Given the description of an element on the screen output the (x, y) to click on. 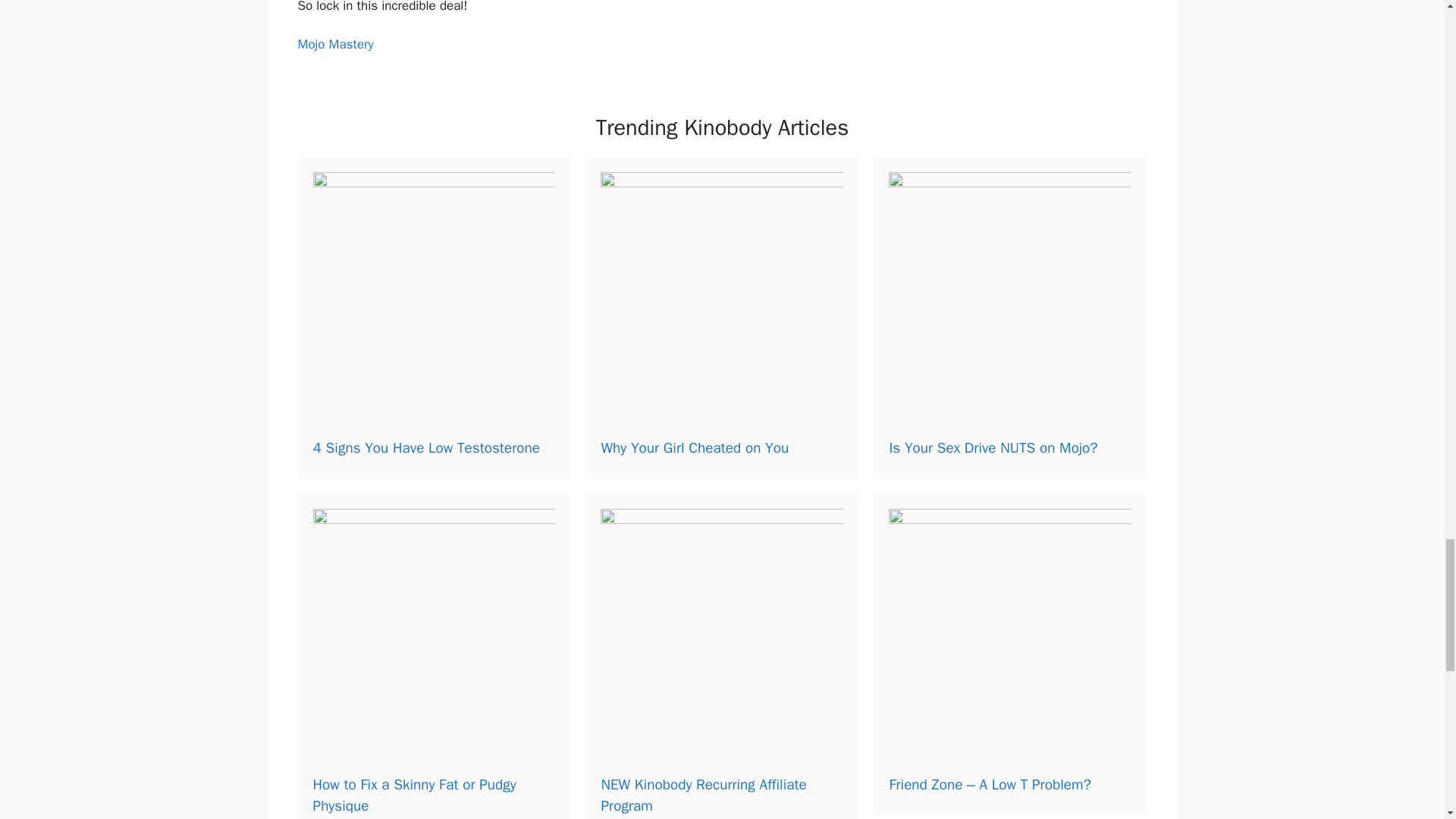
4 Signs You Have Low Testosterone (425, 447)
Is Your Sex Drive NUTS on Mojo? (992, 447)
NEW Kinobody Recurring Affiliate Program (702, 795)
Why Your Girl Cheated on You (694, 447)
How to Fix a Skinny Fat or Pudgy Physique (414, 795)
Mojo Mastery (334, 44)
